Given the description of an element on the screen output the (x, y) to click on. 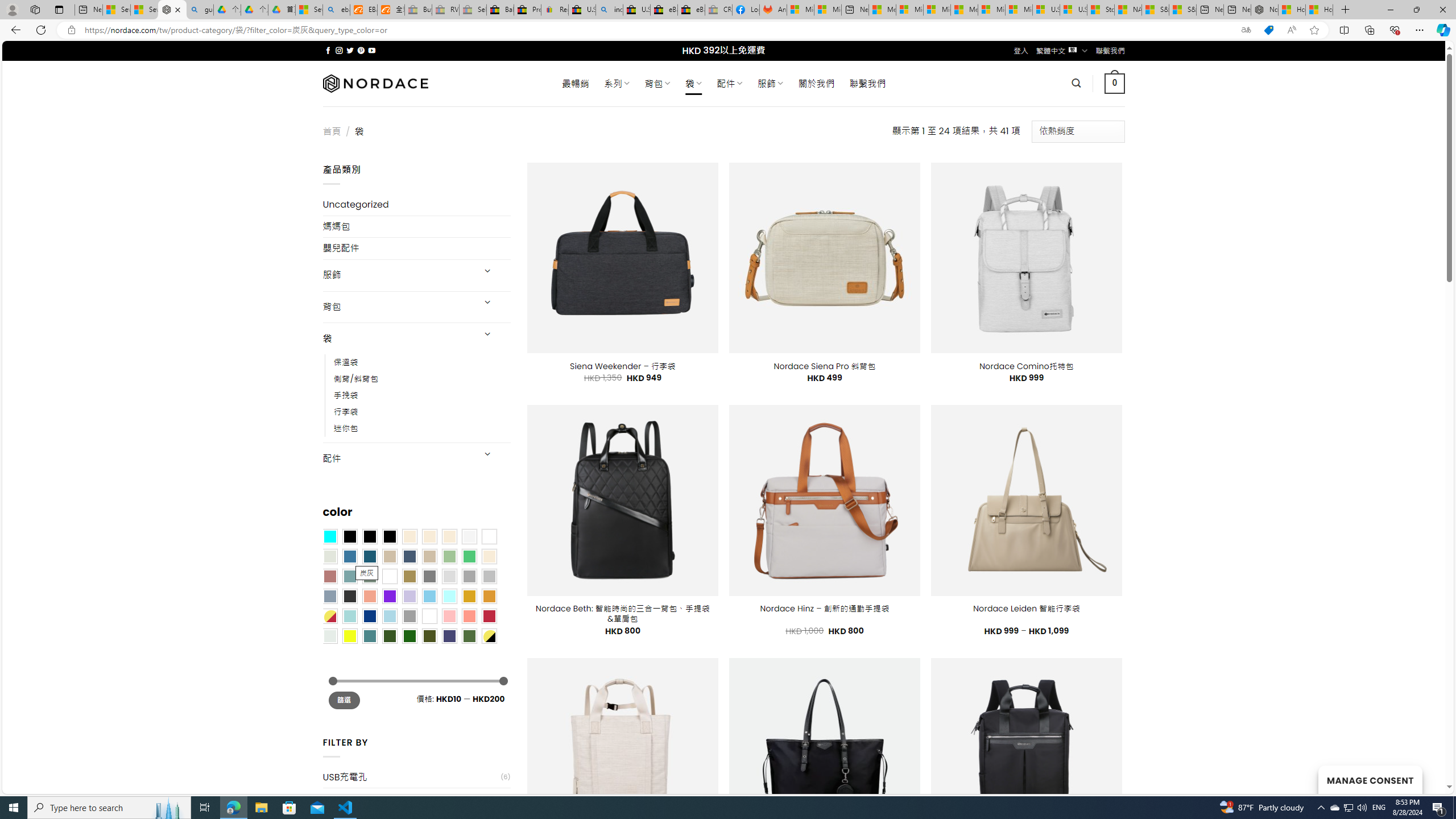
Show translate options (1245, 29)
